Given the description of an element on the screen output the (x, y) to click on. 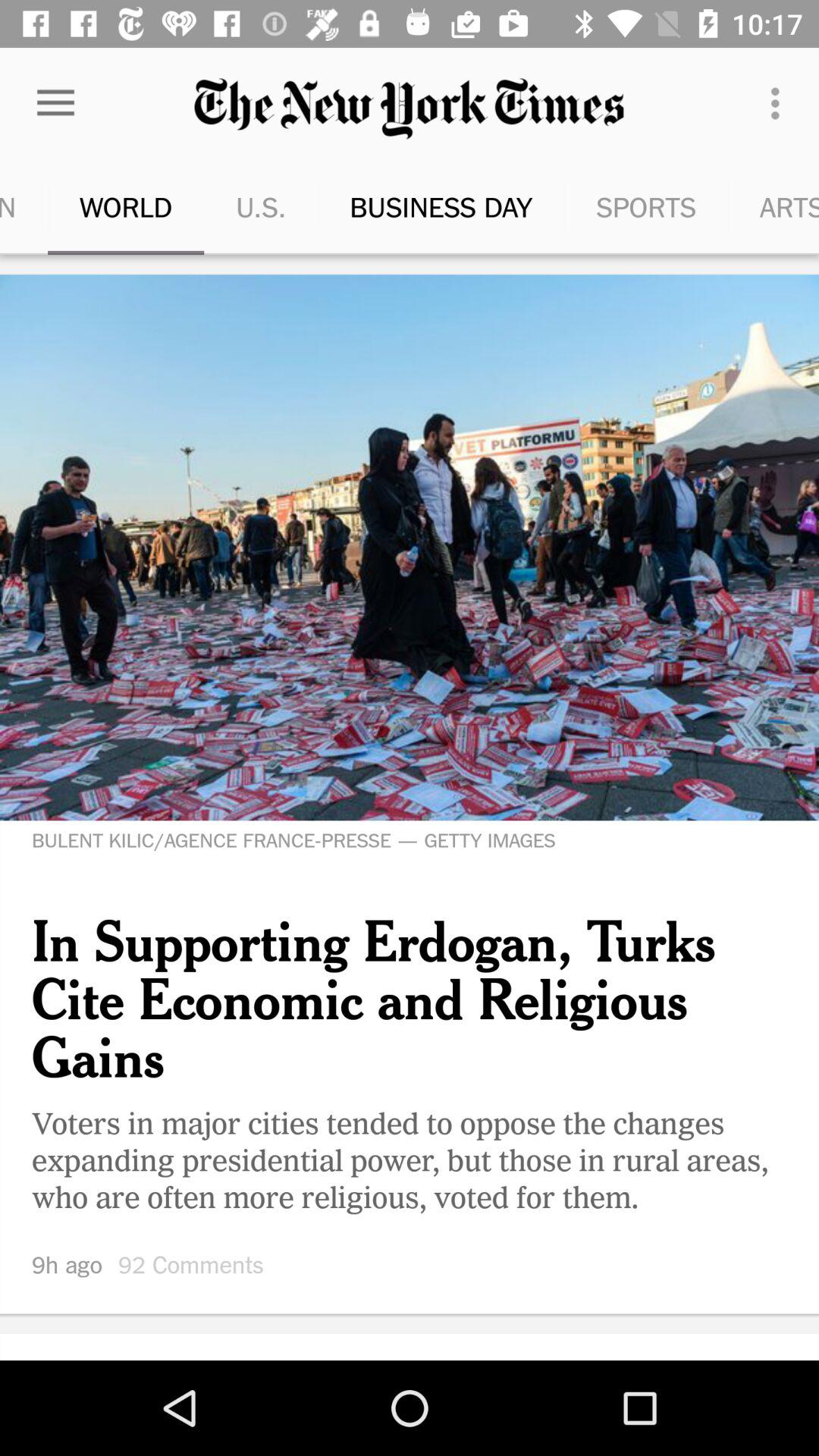
turn off icon to the left of the sports (402, 206)
